Given the description of an element on the screen output the (x, y) to click on. 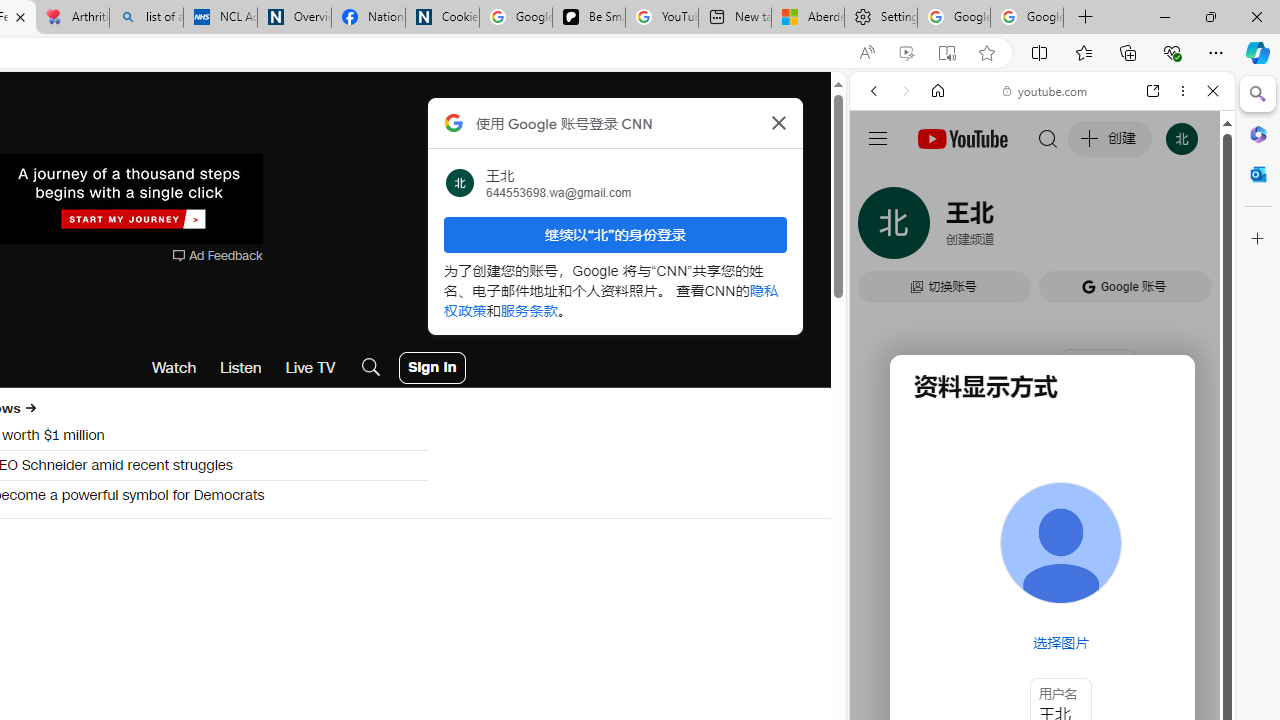
Search the web (1051, 137)
Cookies (441, 17)
Trailer #2 [HD] (1042, 592)
Music (1042, 543)
#you (1042, 445)
User Account Log In Button (432, 367)
Search Icon (371, 367)
Search Filter, Search Tools (1093, 228)
Watch (174, 367)
